Given the description of an element on the screen output the (x, y) to click on. 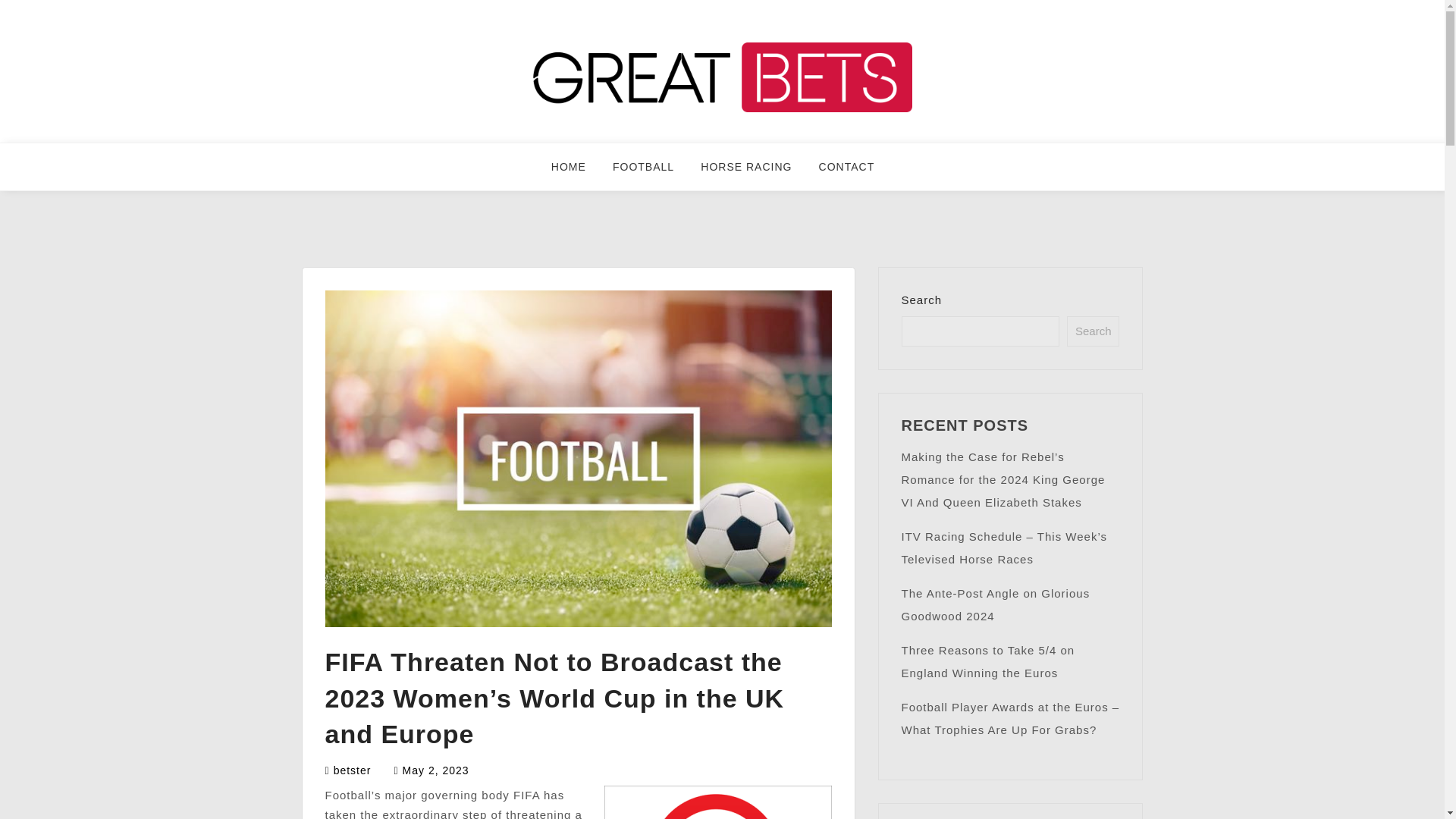
The Ante-Post Angle on Glorious Goodwood 2024 (995, 604)
CONTACT (855, 173)
HOME (578, 173)
Search (1093, 331)
HORSE RACING (755, 173)
May 2, 2023 (435, 770)
betster (352, 770)
FOOTBALL (652, 173)
